Given the description of an element on the screen output the (x, y) to click on. 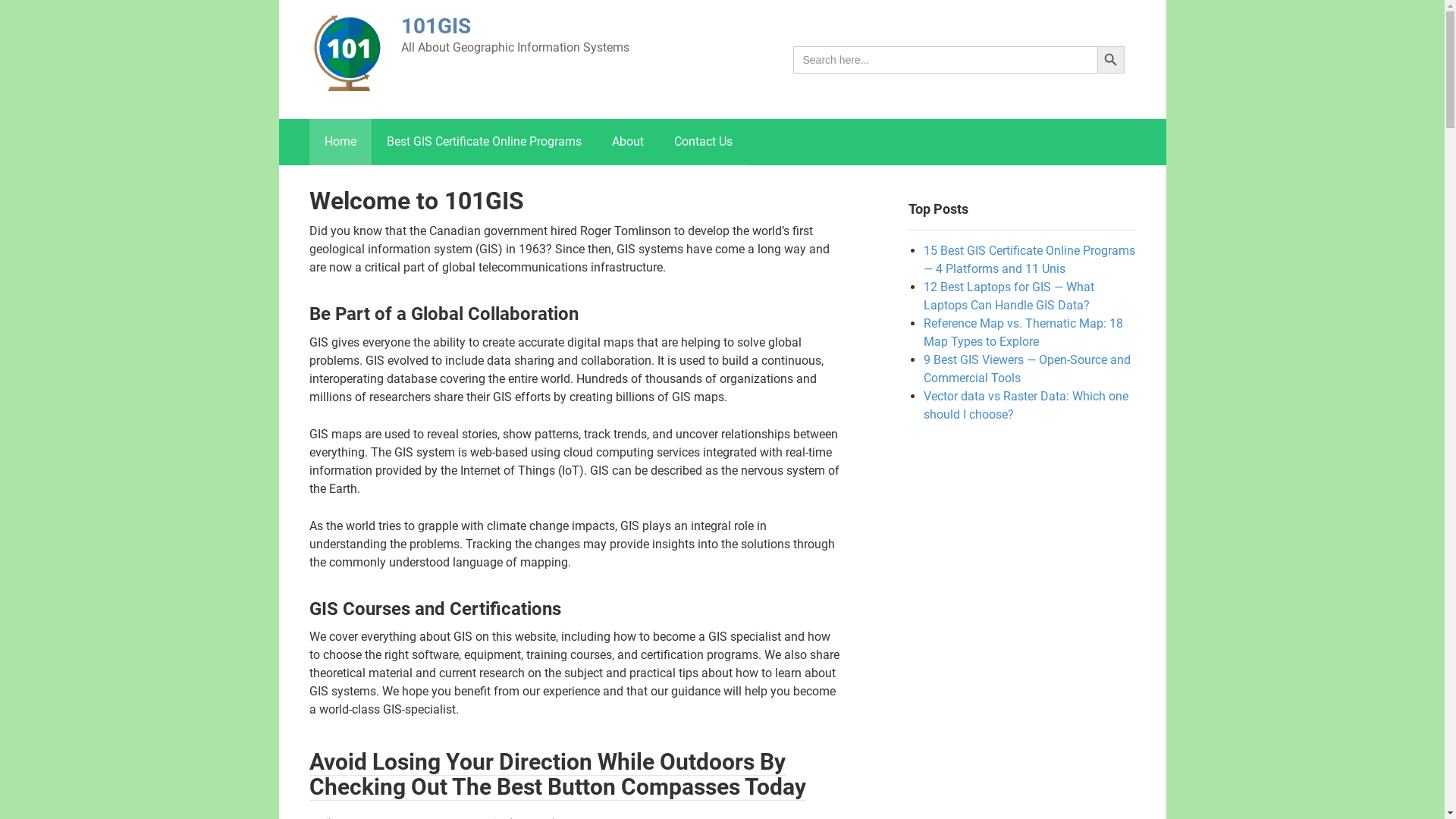
Best GIS Certificate Online Programs Element type: text (483, 141)
Reference Map vs. Thematic Map: 18 Map Types to Explore Element type: text (1023, 332)
Contact Us Element type: text (702, 141)
Search Button Element type: text (1109, 58)
Vector data vs Raster Data: Which one should I choose? Element type: text (1025, 405)
About Element type: text (627, 141)
